Given the description of an element on the screen output the (x, y) to click on. 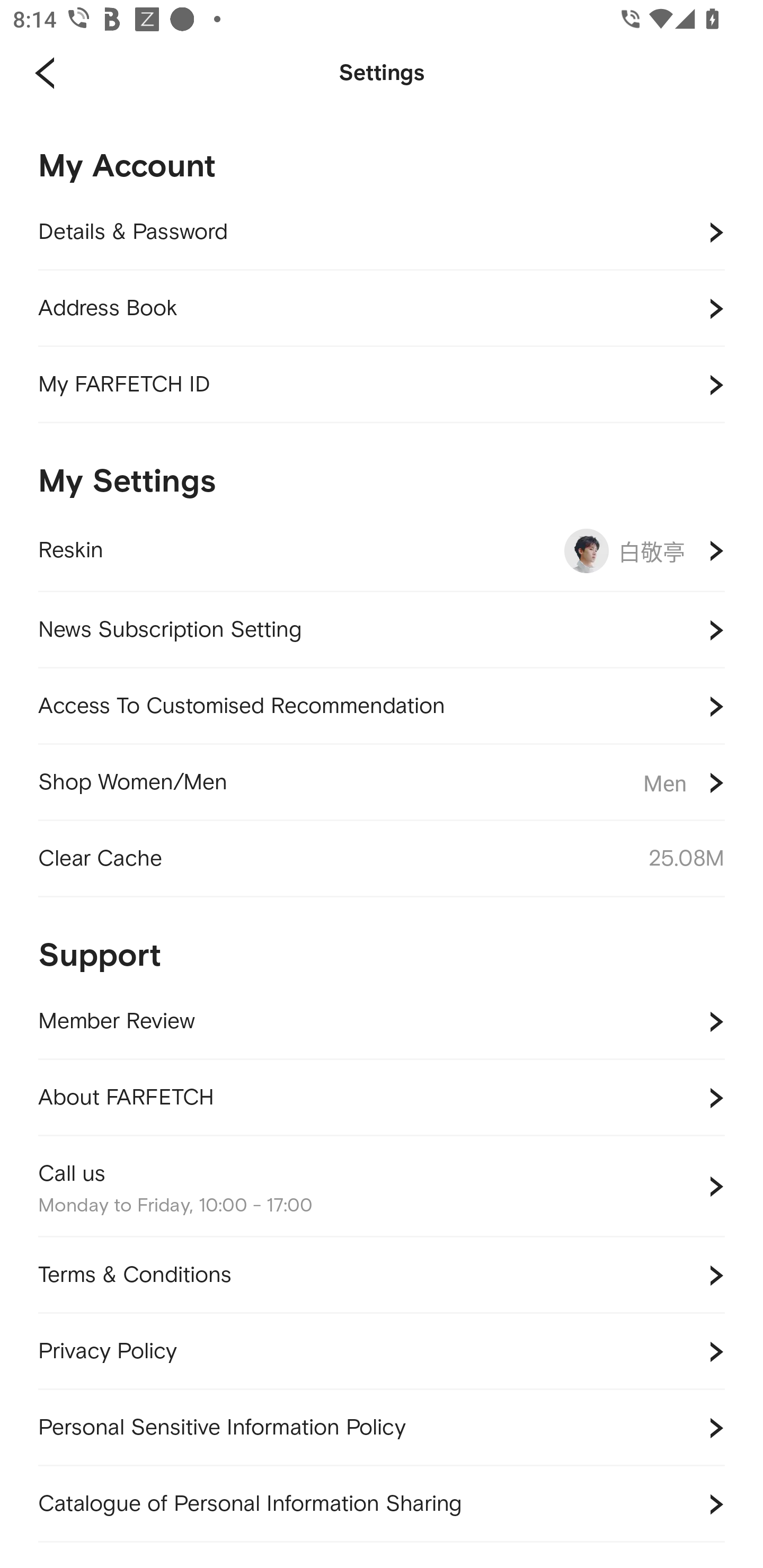
Details & Password (381, 232)
Address Book (381, 308)
My FARFETCH ID (381, 384)
Reskin 白敬亭 (381, 550)
News Subscription Setting (381, 629)
Access To Customised Recommendation (381, 705)
Shop Women/Men Men (381, 782)
Clear Cache 25.08M (381, 858)
Member Review (381, 1021)
About FARFETCH (381, 1097)
Call us Monday to Friday, 10:00 - 17:00 (381, 1186)
Terms & Conditions (381, 1275)
Privacy Policy (381, 1351)
Personal Sensitive Information Policy (381, 1427)
Catalogue of Personal Information Sharing (381, 1504)
